Given the description of an element on the screen output the (x, y) to click on. 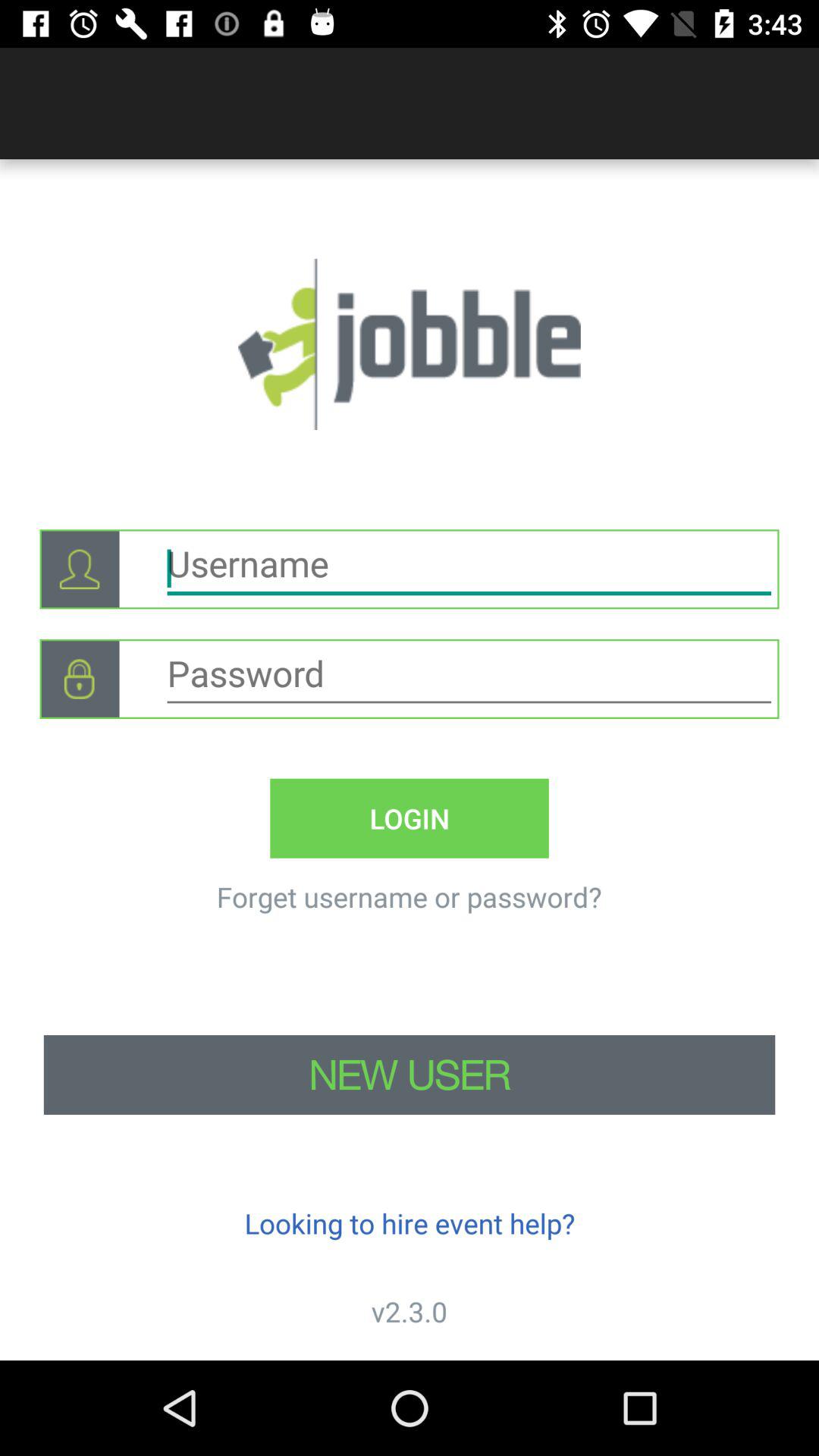
tap item below the forget username or icon (409, 1074)
